Given the description of an element on the screen output the (x, y) to click on. 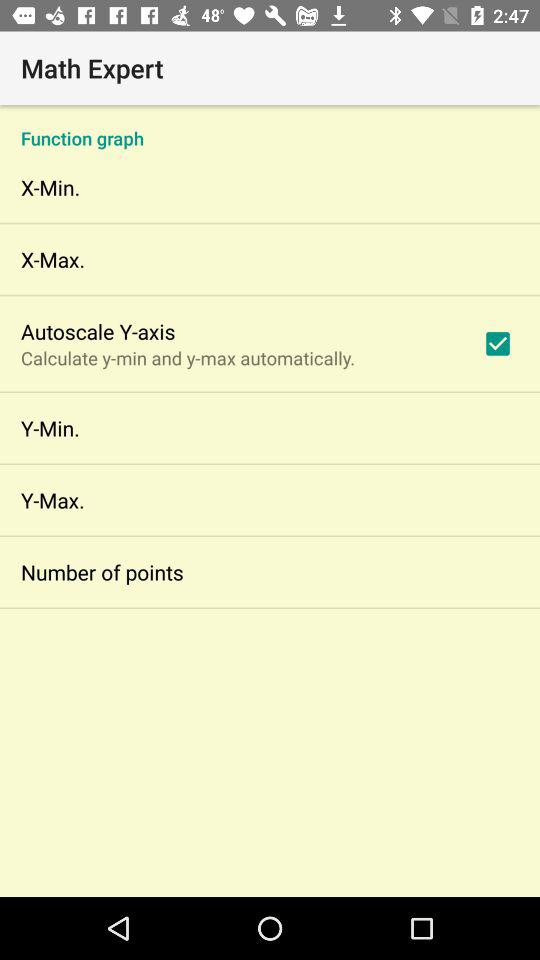
jump until the number of points (102, 572)
